Given the description of an element on the screen output the (x, y) to click on. 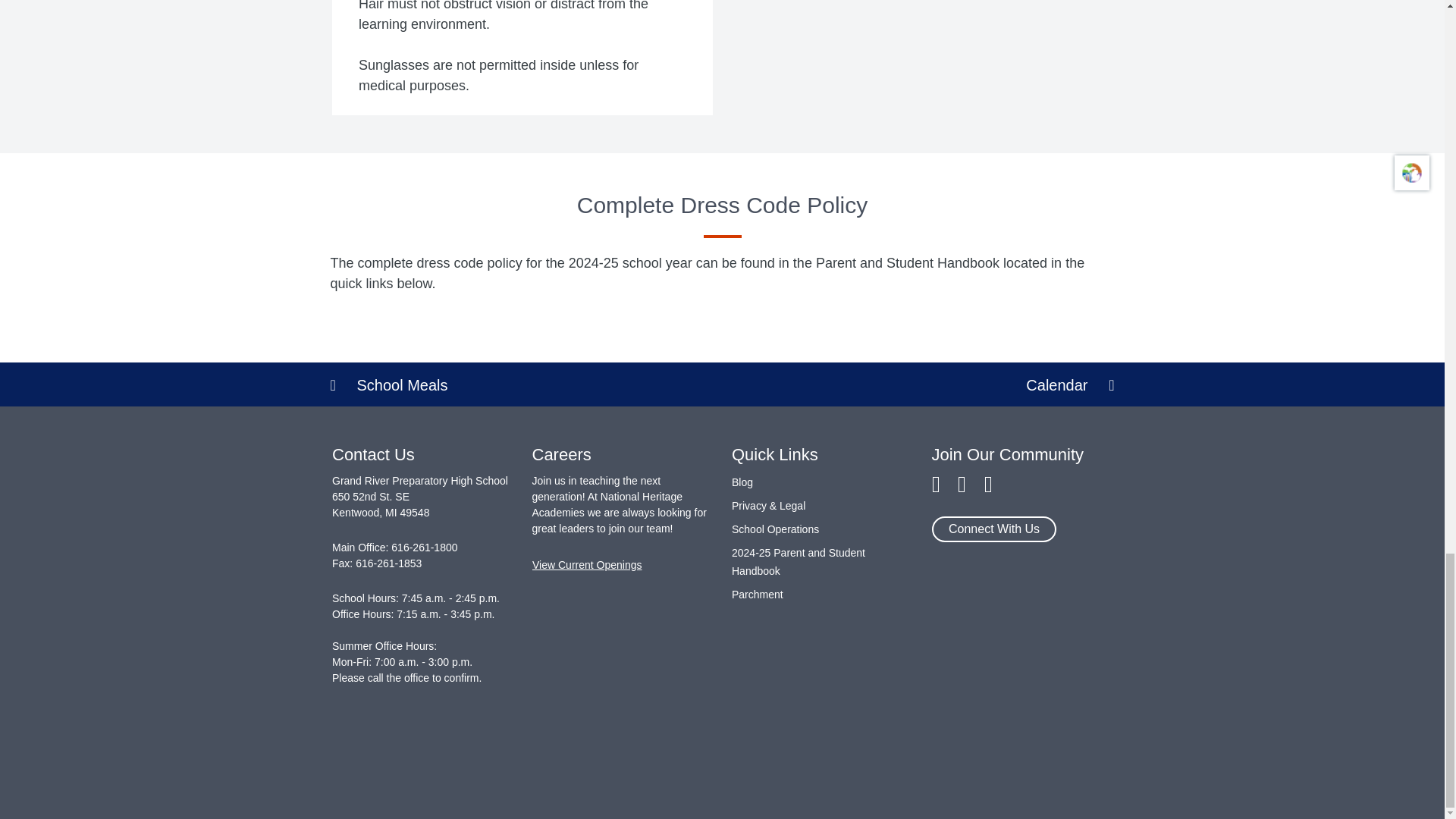
School Meals (526, 384)
Link to Instagram Page (962, 485)
Link to YouTube Page (988, 485)
Link to Facebook Page (935, 485)
View Current Openings (587, 565)
Calendar (1055, 384)
